Given the description of an element on the screen output the (x, y) to click on. 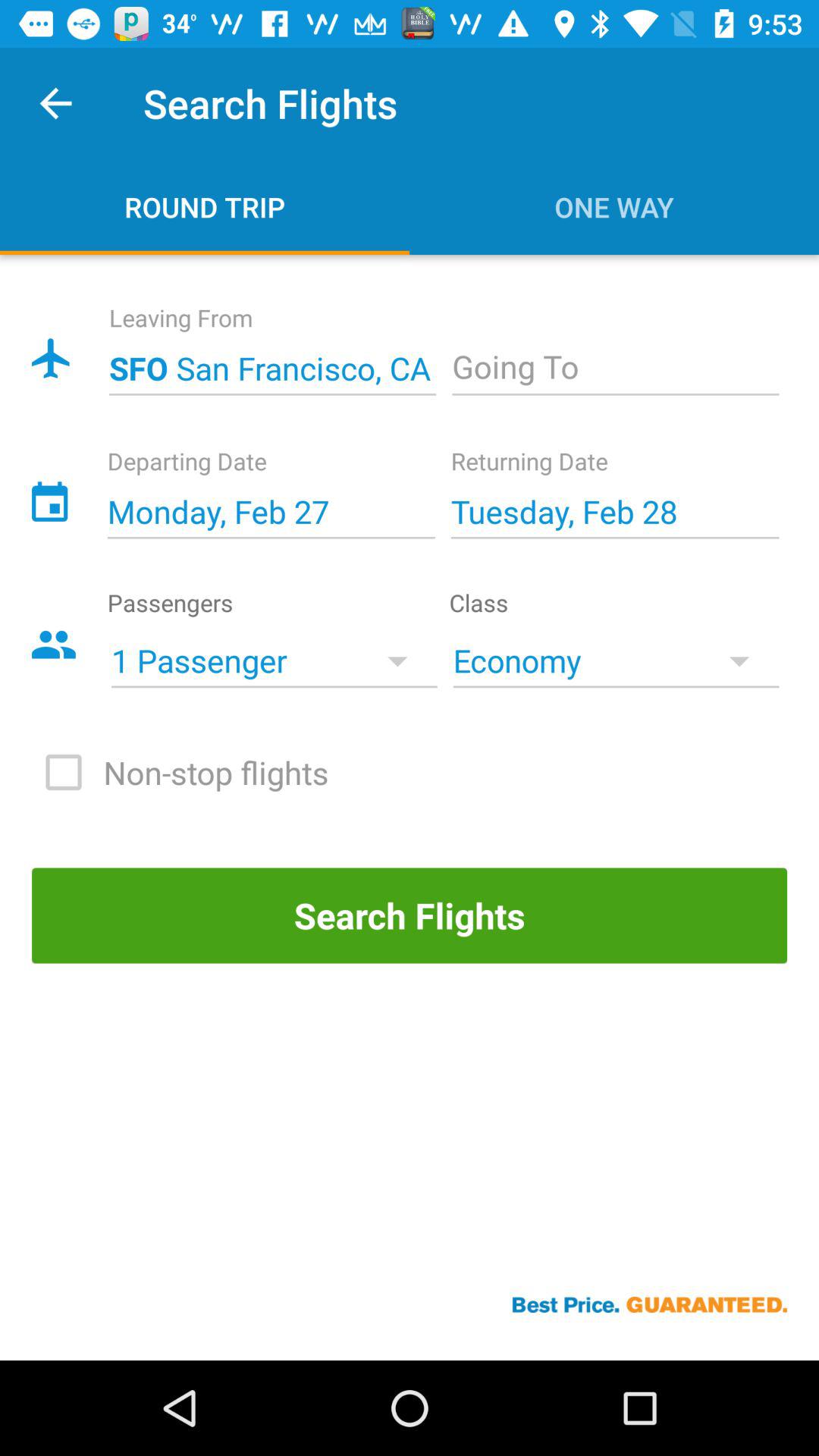
open dropdown box (615, 368)
